Given the description of an element on the screen output the (x, y) to click on. 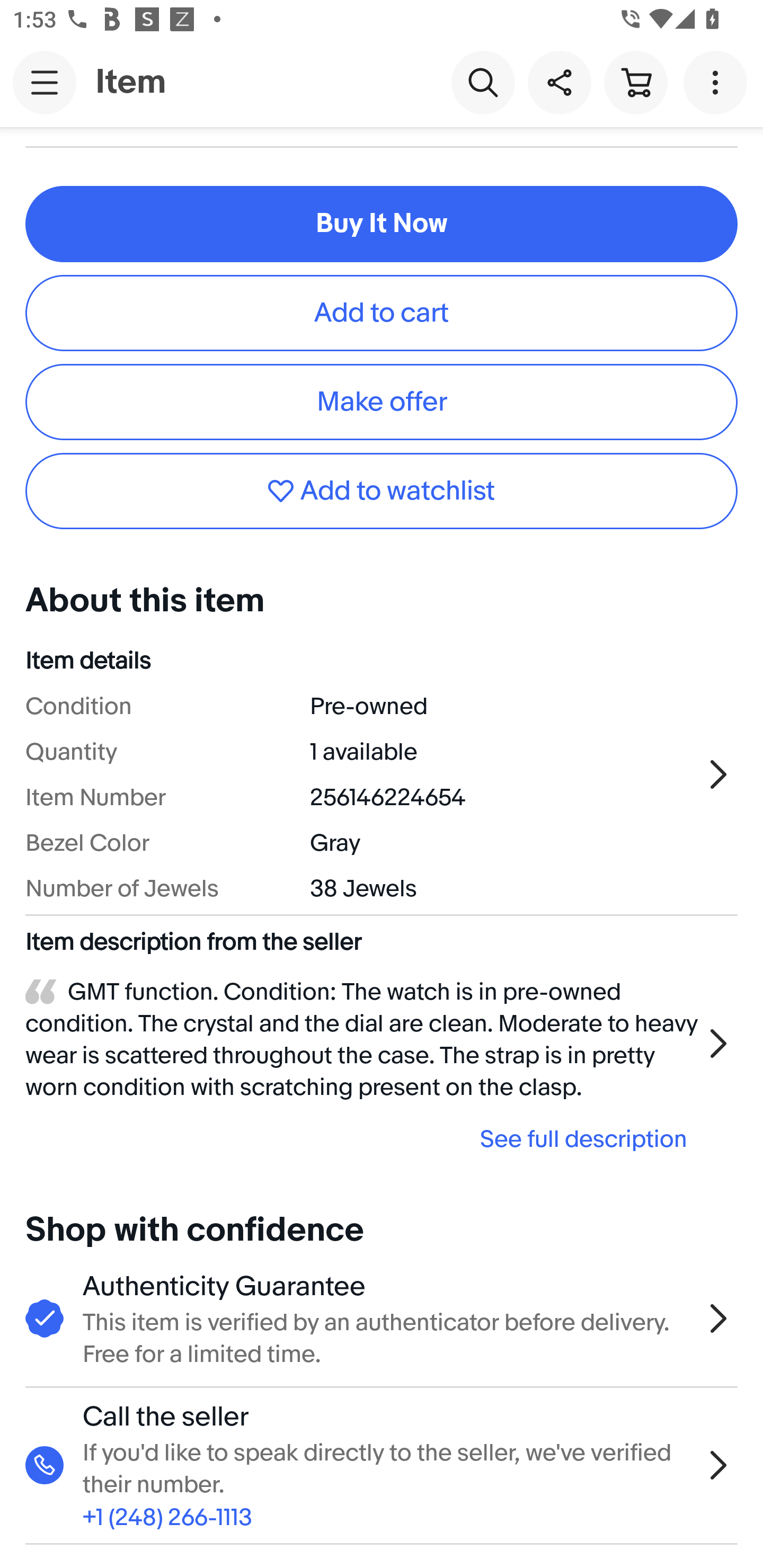
Main navigation, open (44, 82)
Search (482, 81)
Share this item (559, 81)
Cart button shopping cart (635, 81)
More options (718, 81)
Buy It Now (381, 223)
Add to cart (381, 312)
Make offer (381, 401)
Add to watchlist (381, 491)
See full description (362, 1138)
